Given the description of an element on the screen output the (x, y) to click on. 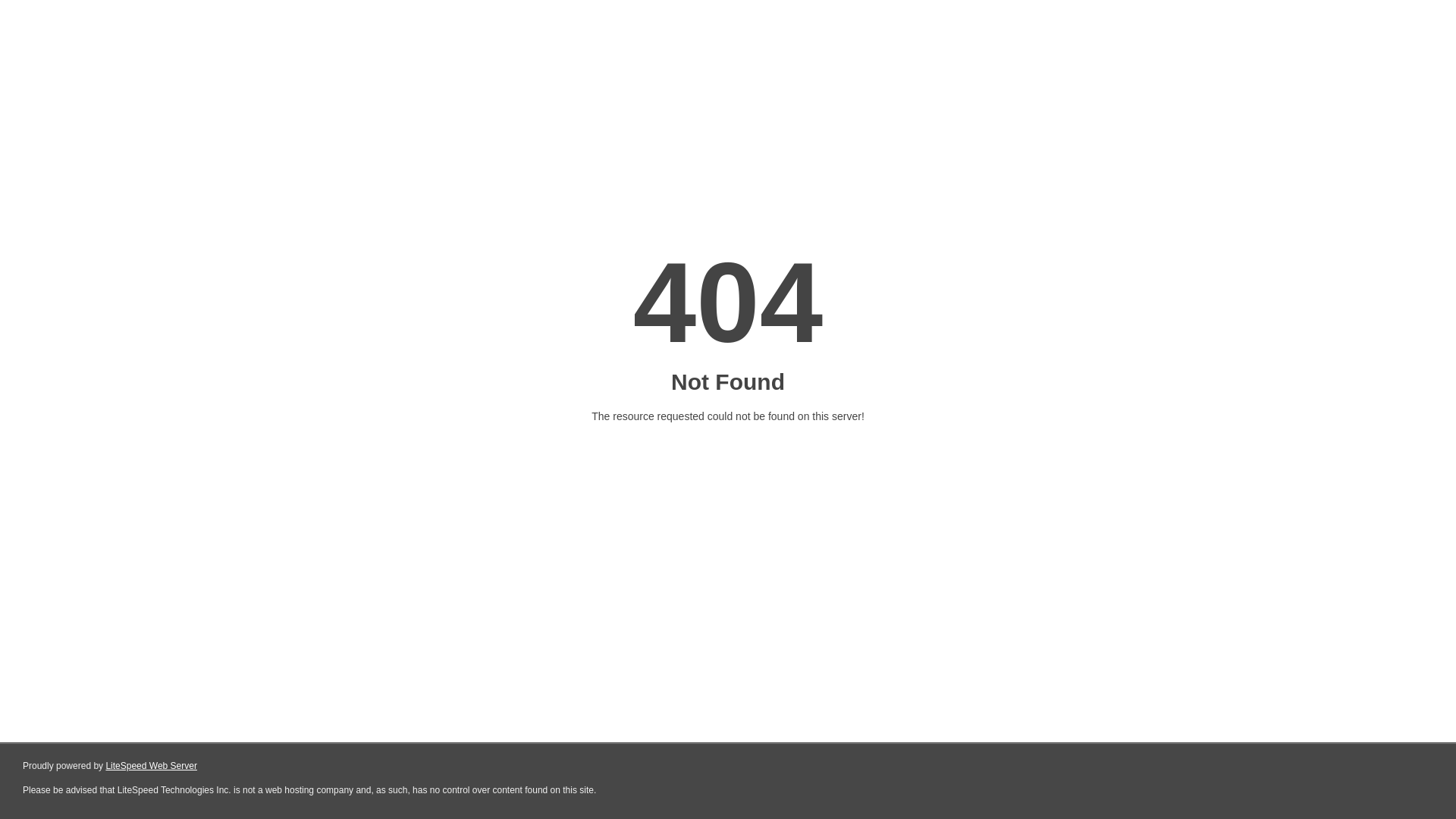
LiteSpeed Web Server Element type: text (151, 765)
